Given the description of an element on the screen output the (x, y) to click on. 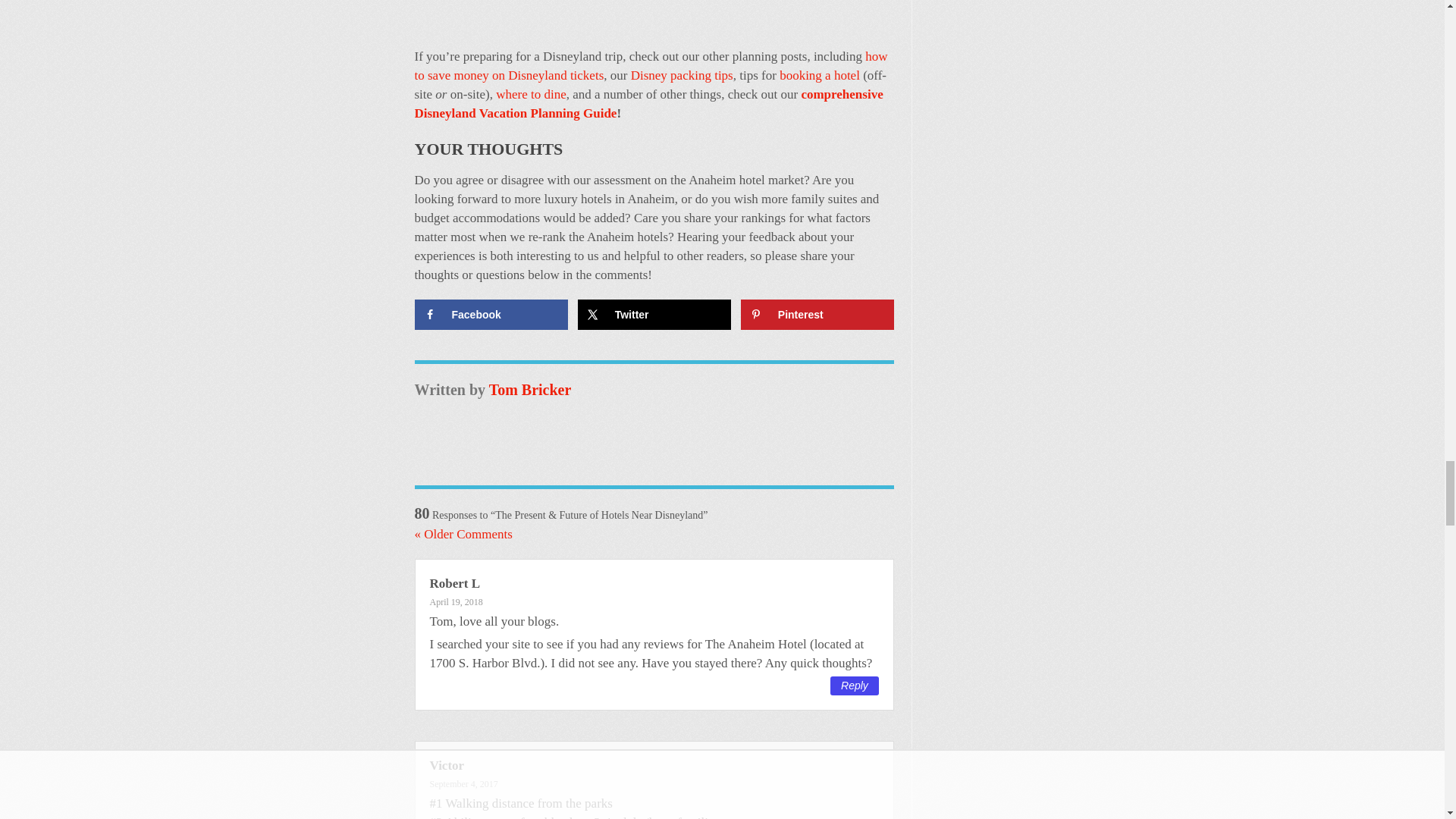
Share on X (655, 314)
Save to Pinterest (818, 314)
Share on Facebook (490, 314)
